Given the description of an element on the screen output the (x, y) to click on. 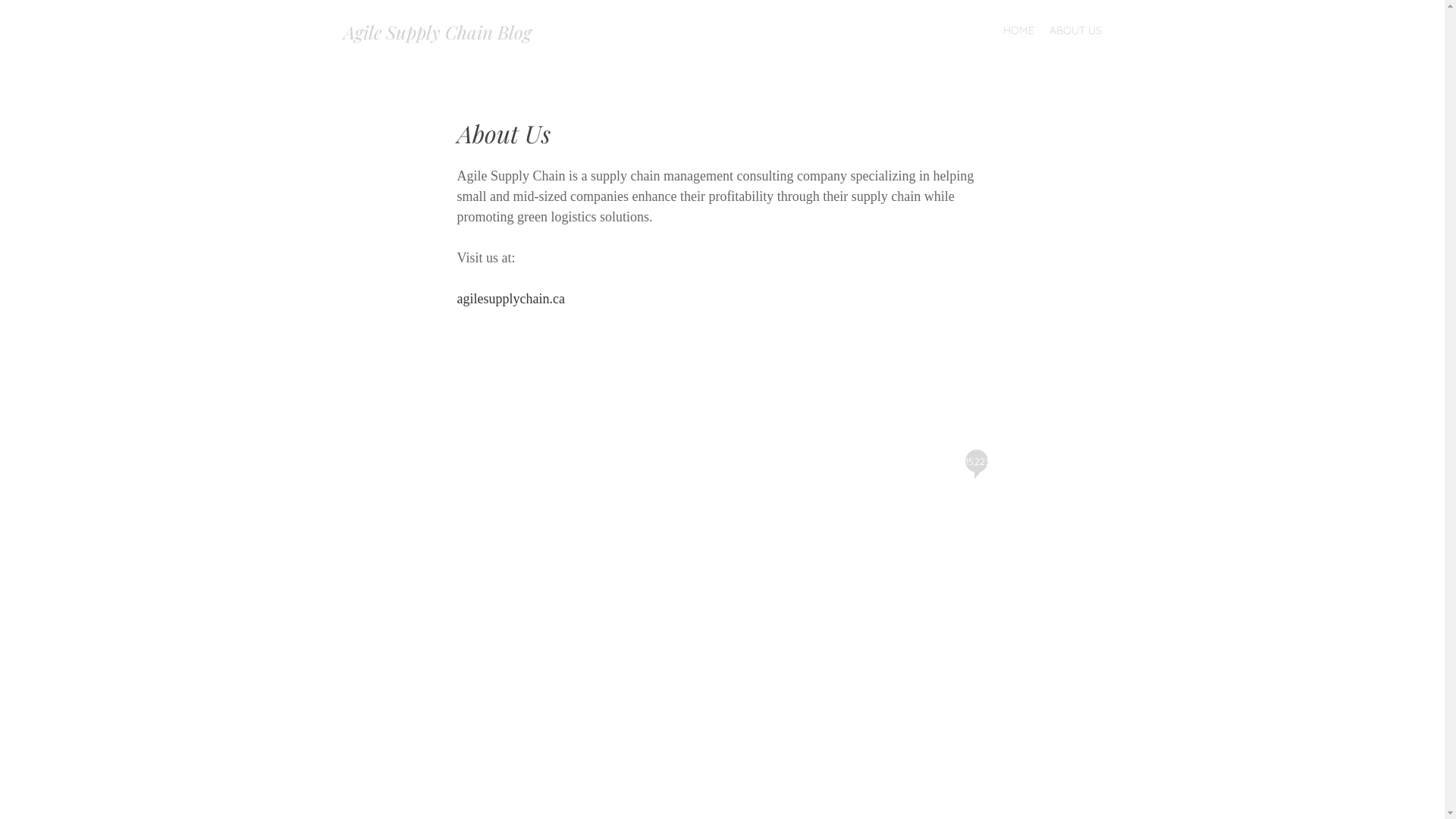
agilesupplychain.ca Element type: text (510, 298)
Agile Supply Chain Blog Element type: text (436, 31)
SKIP TO CONTENT Element type: text (766, 30)
ABOUT US Element type: text (1075, 30)
HOME Element type: text (1017, 30)
15,223 Element type: text (975, 460)
